Given the description of an element on the screen output the (x, y) to click on. 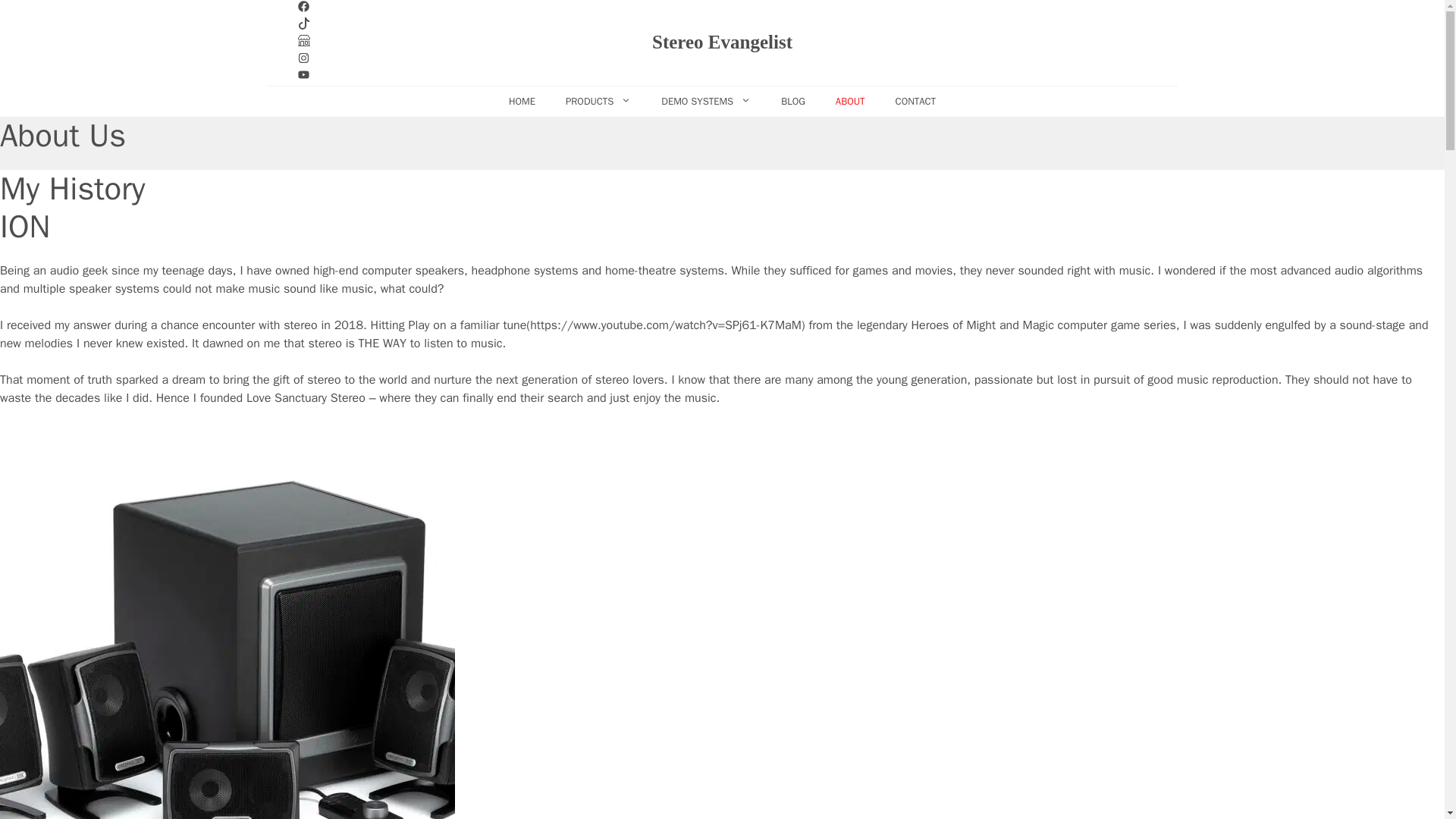
CONTACT (916, 101)
Stereo Evangelist (722, 49)
BLOG (793, 101)
HOME (521, 101)
DEMO SYSTEMS (705, 101)
ABOUT (850, 101)
PRODUCTS (598, 101)
